Given the description of an element on the screen output the (x, y) to click on. 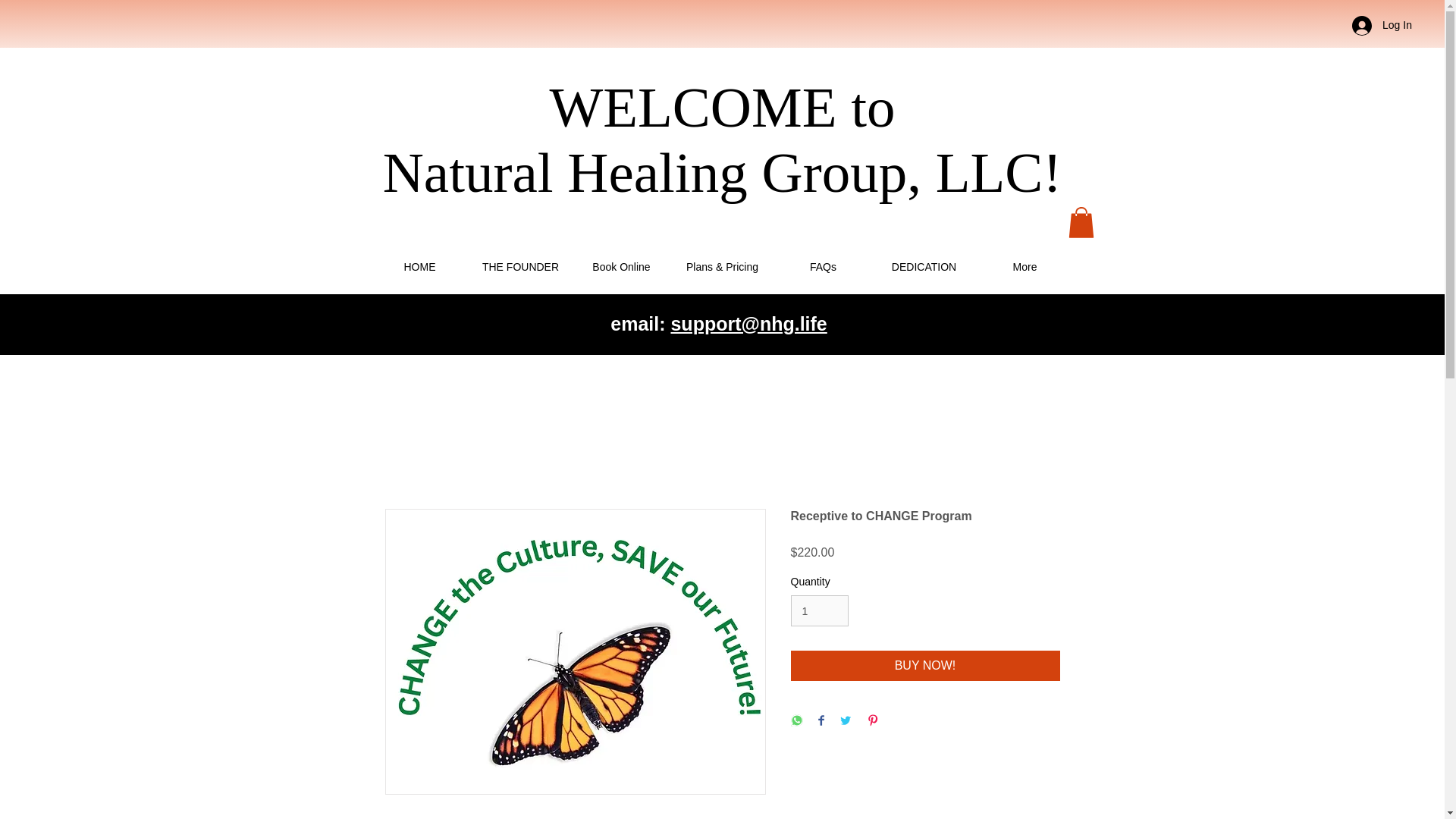
FAQs (823, 266)
1 (818, 610)
WELCOME to (721, 107)
HOME (419, 266)
THE FOUNDER (520, 266)
Log In (1381, 25)
Book Online (620, 266)
BUY NOW! (924, 665)
Natural Healing Group, LLC! (722, 171)
DEDICATION (923, 266)
